Given the description of an element on the screen output the (x, y) to click on. 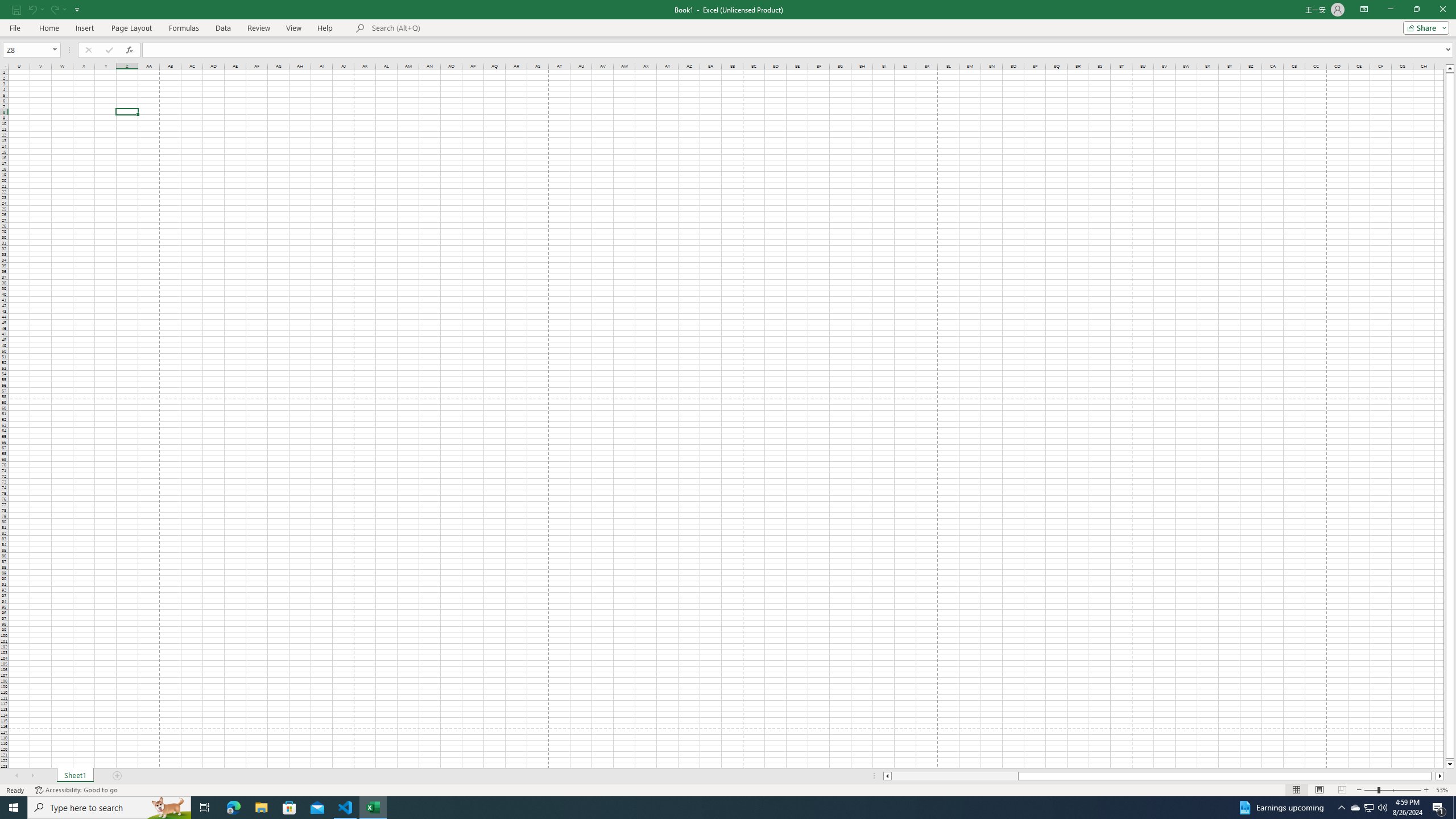
Restore Down (1416, 9)
Formula Bar (798, 49)
